Given the description of an element on the screen output the (x, y) to click on. 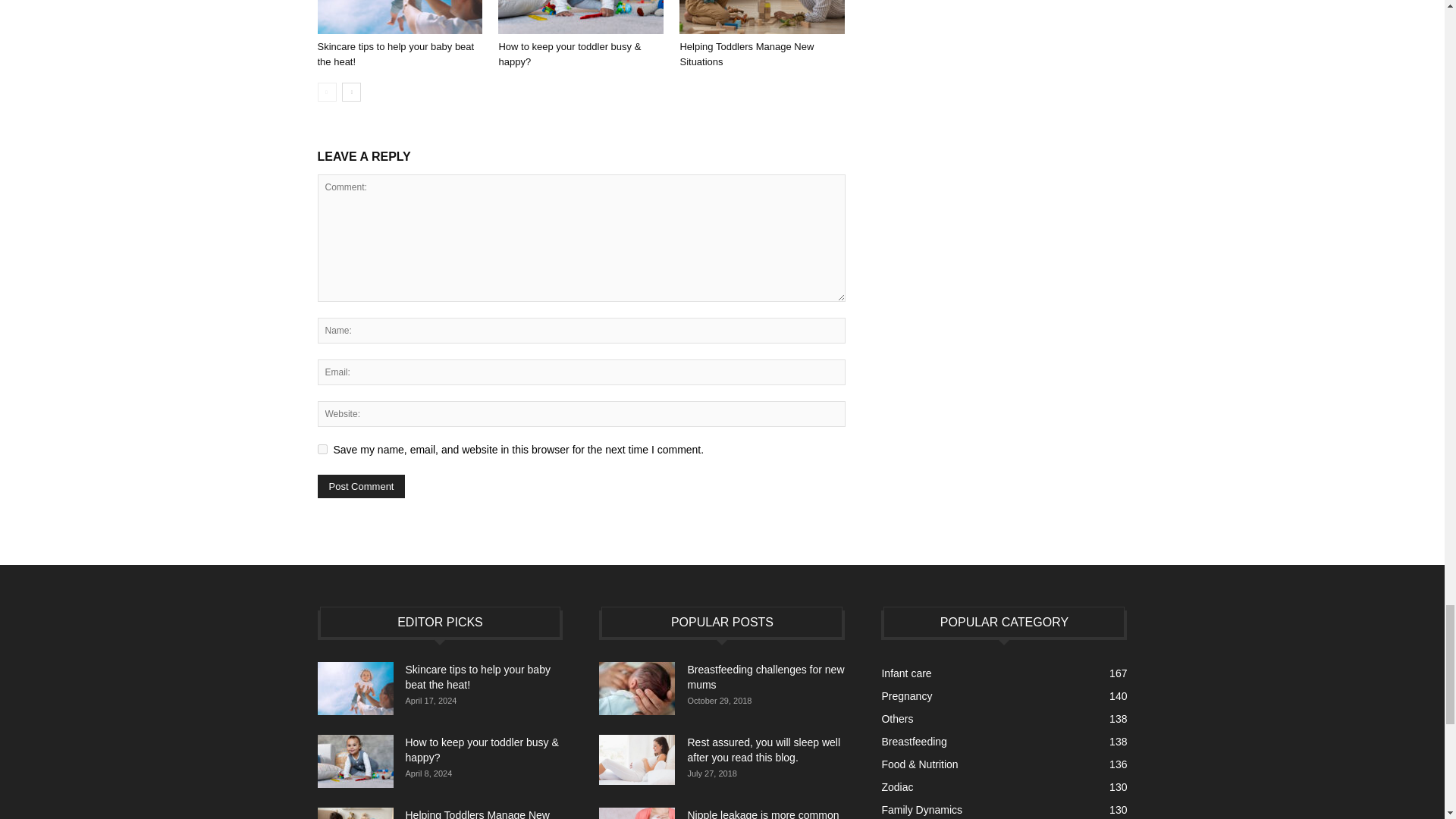
Post Comment (360, 486)
yes (321, 449)
